Given the description of an element on the screen output the (x, y) to click on. 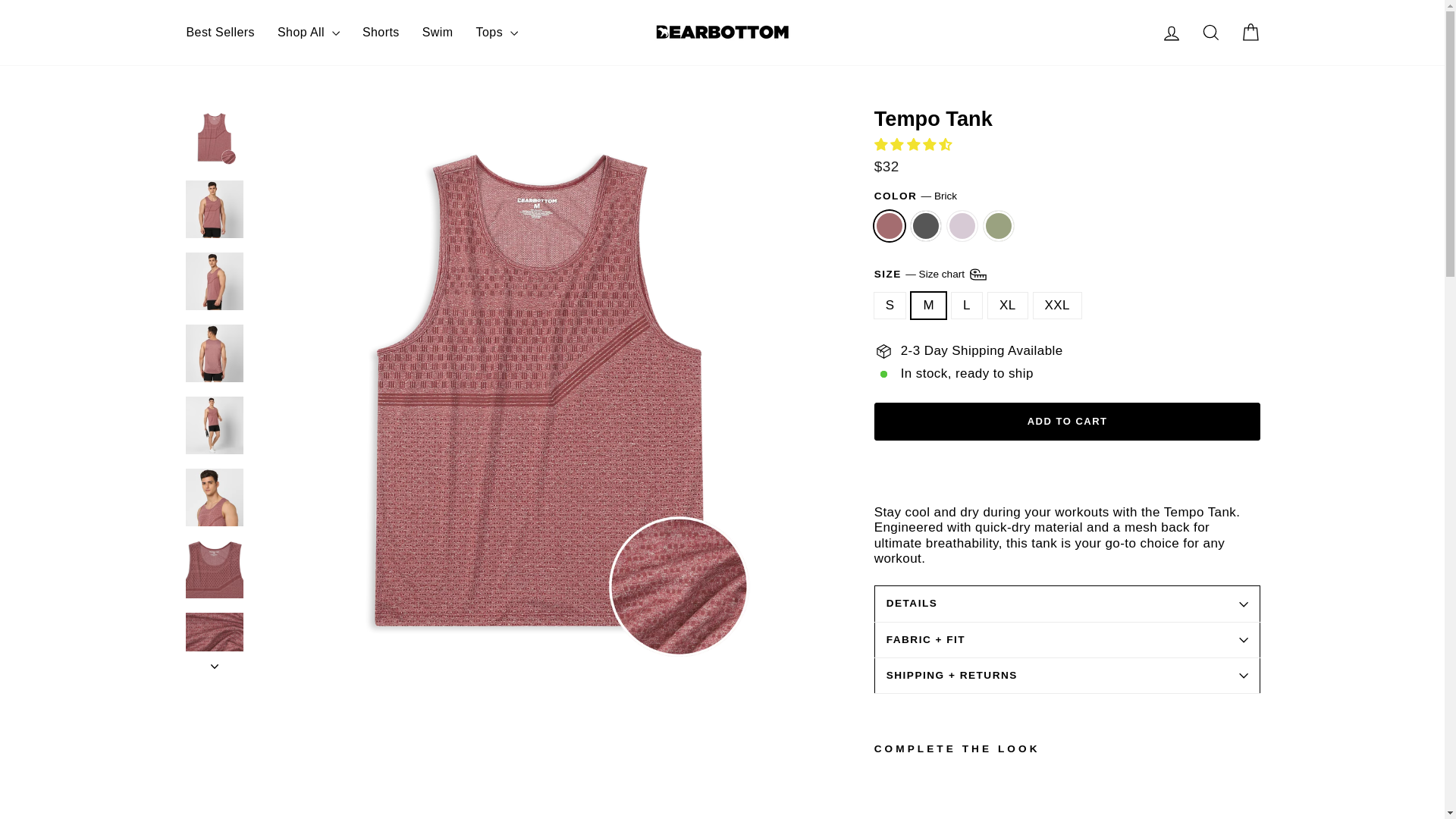
account (1170, 33)
icon-search (1210, 32)
Best Sellers (219, 32)
icon-chevron (214, 666)
